Given the description of an element on the screen output the (x, y) to click on. 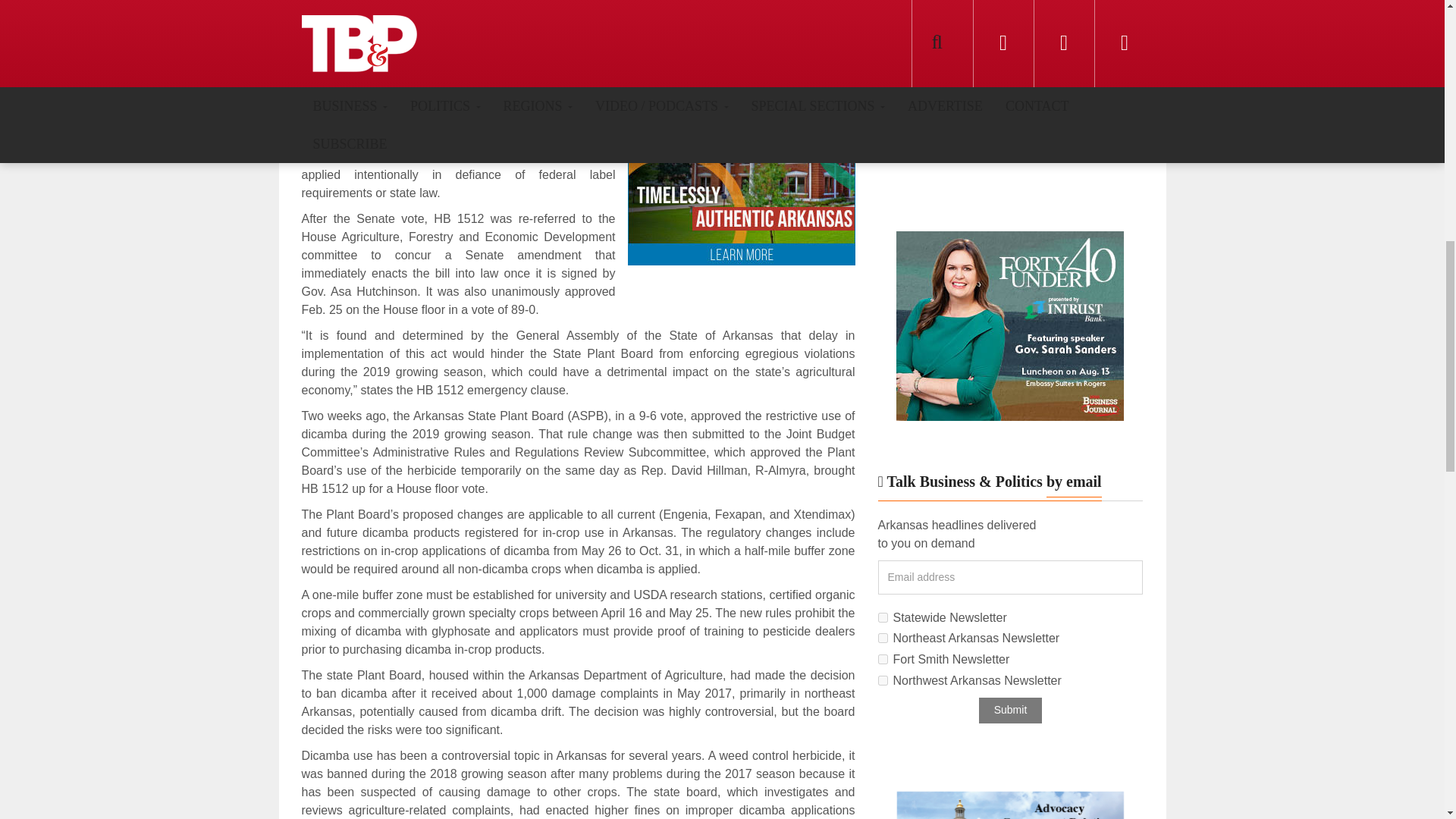
bfd07a2f6a (882, 659)
a8cb0d3206 (882, 617)
0dbc242577 (882, 637)
536baa6e11 (882, 680)
